Given the description of an element on the screen output the (x, y) to click on. 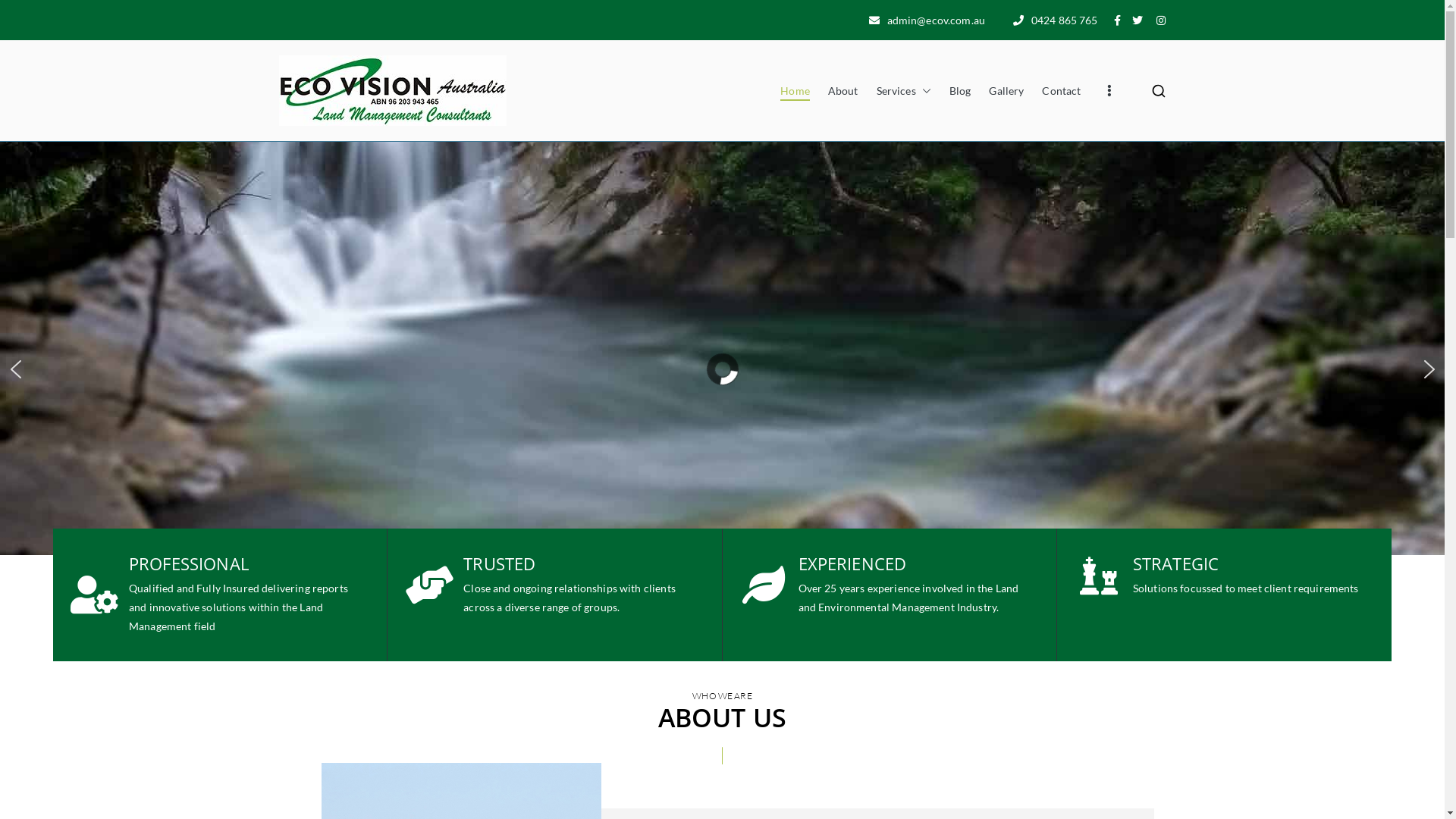
Eco Vision Element type: text (555, 101)
Services Element type: text (903, 90)
Home Element type: text (794, 90)
Gallery Element type: text (1005, 90)
Search Element type: text (24, 12)
About Element type: text (843, 90)
Contact Element type: text (1060, 90)
LEARN MORE Element type: text (721, 406)
Blog Element type: text (960, 90)
